Given the description of an element on the screen output the (x, y) to click on. 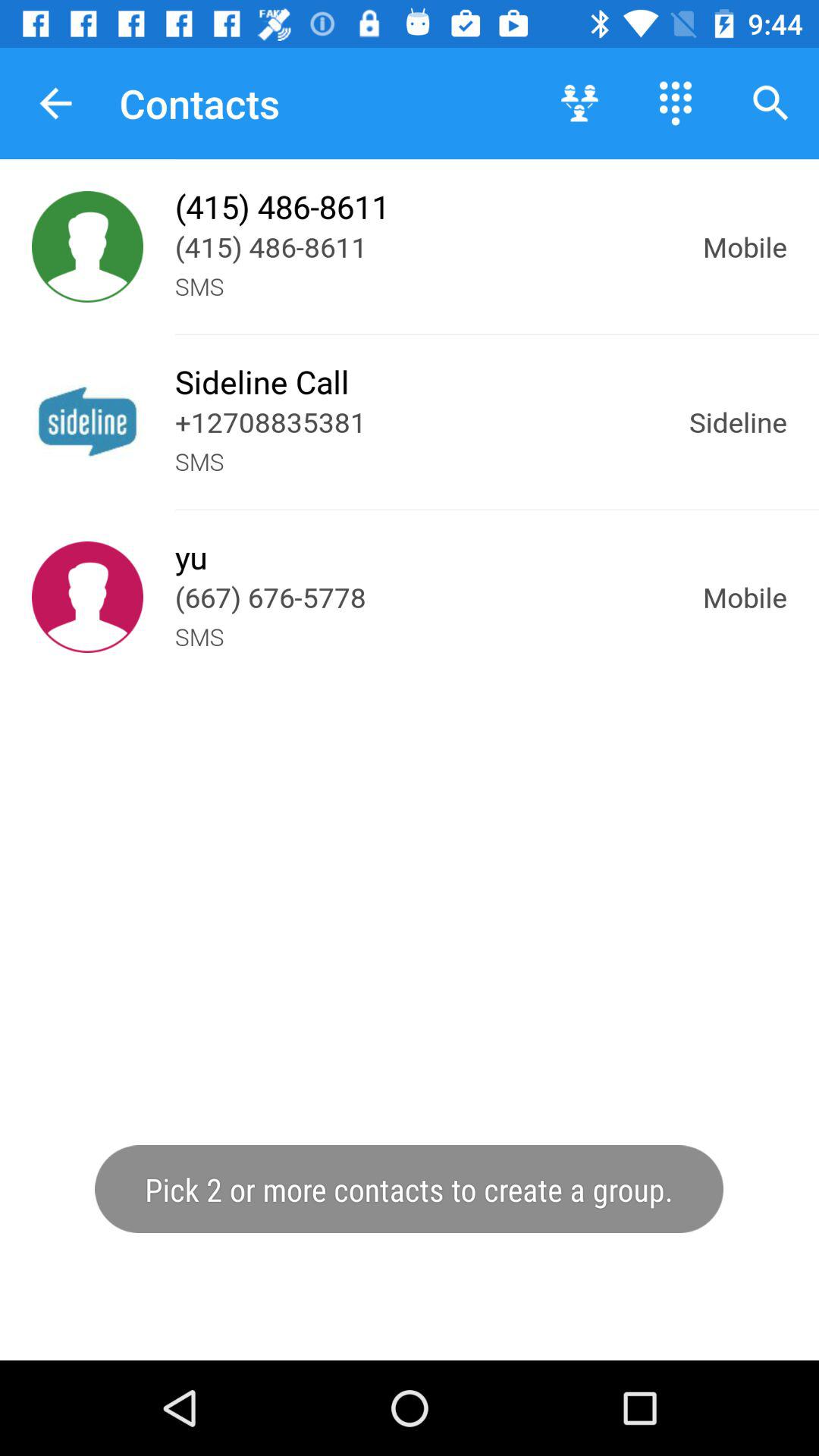
contact name (87, 421)
